Given the description of an element on the screen output the (x, y) to click on. 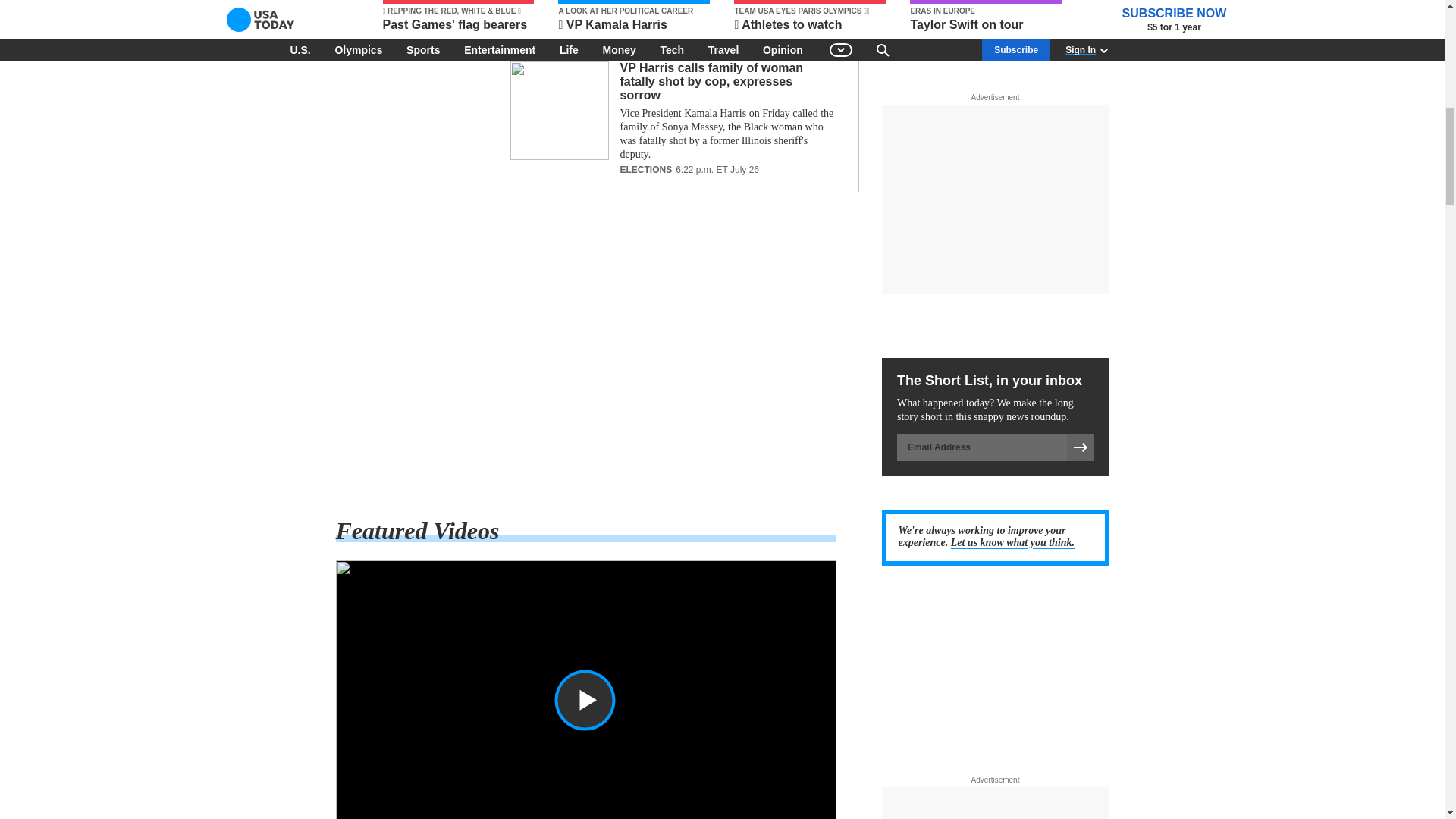
Olympic Results (584, 354)
